Given the description of an element on the screen output the (x, y) to click on. 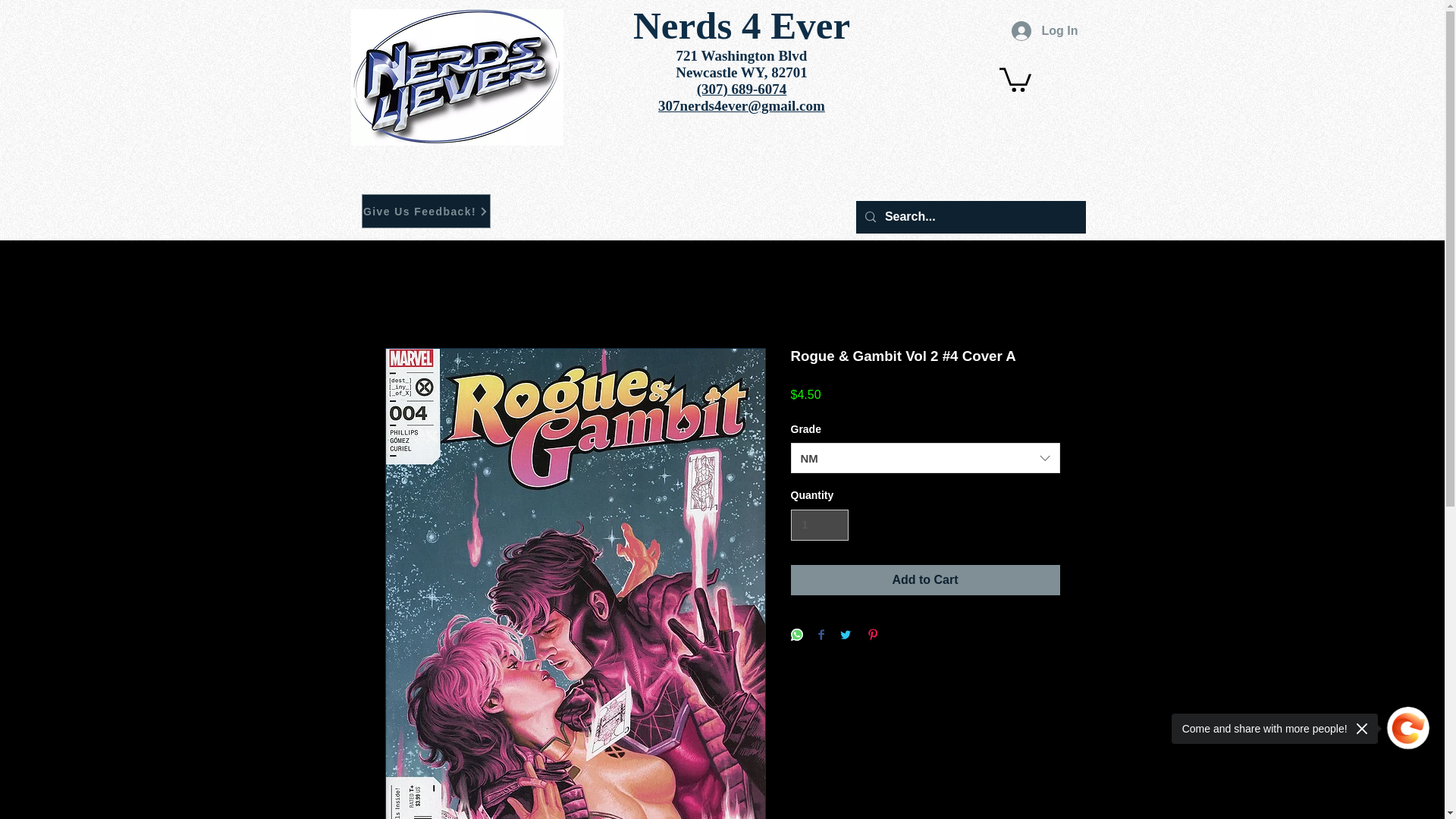
1 (818, 524)
Give Us Feedback! (425, 211)
NM (924, 458)
Log In (1045, 30)
Add to Cart (924, 580)
